Given the description of an element on the screen output the (x, y) to click on. 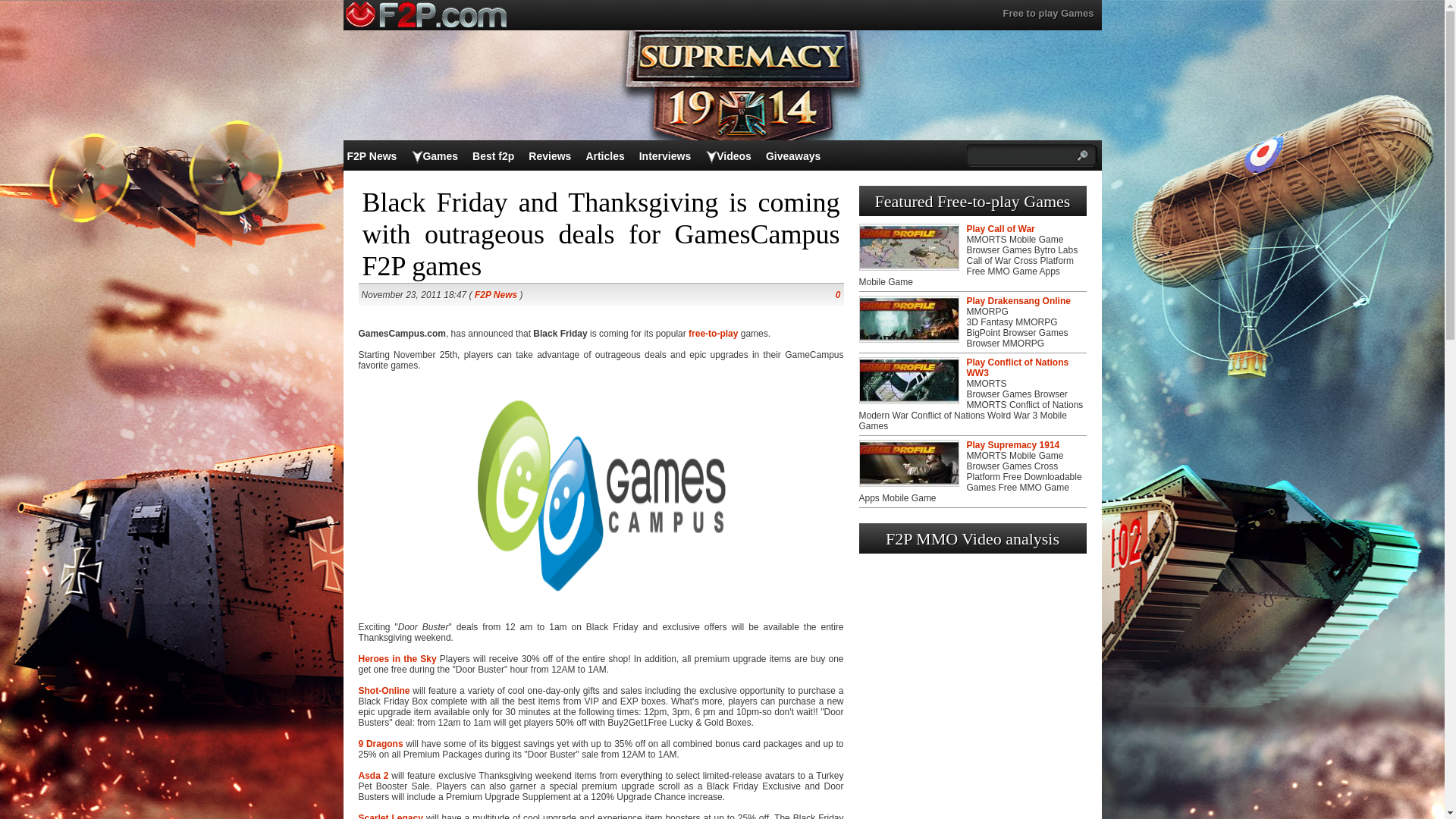
F2P News (495, 294)
Reviews (549, 155)
free-to-play (713, 333)
Articles (604, 155)
Scarlet Legacy (390, 816)
Free to play Games (1048, 12)
Free to Play (713, 333)
F2P News (372, 155)
3rd party ad content (721, 83)
Play Conflict of Nations WW3 (1017, 367)
Asda 2 (373, 775)
Play Supremacy 1914 (1012, 444)
Play Drakensang Online (1018, 300)
Games (440, 155)
Heroes in the Sky (396, 658)
